Given the description of an element on the screen output the (x, y) to click on. 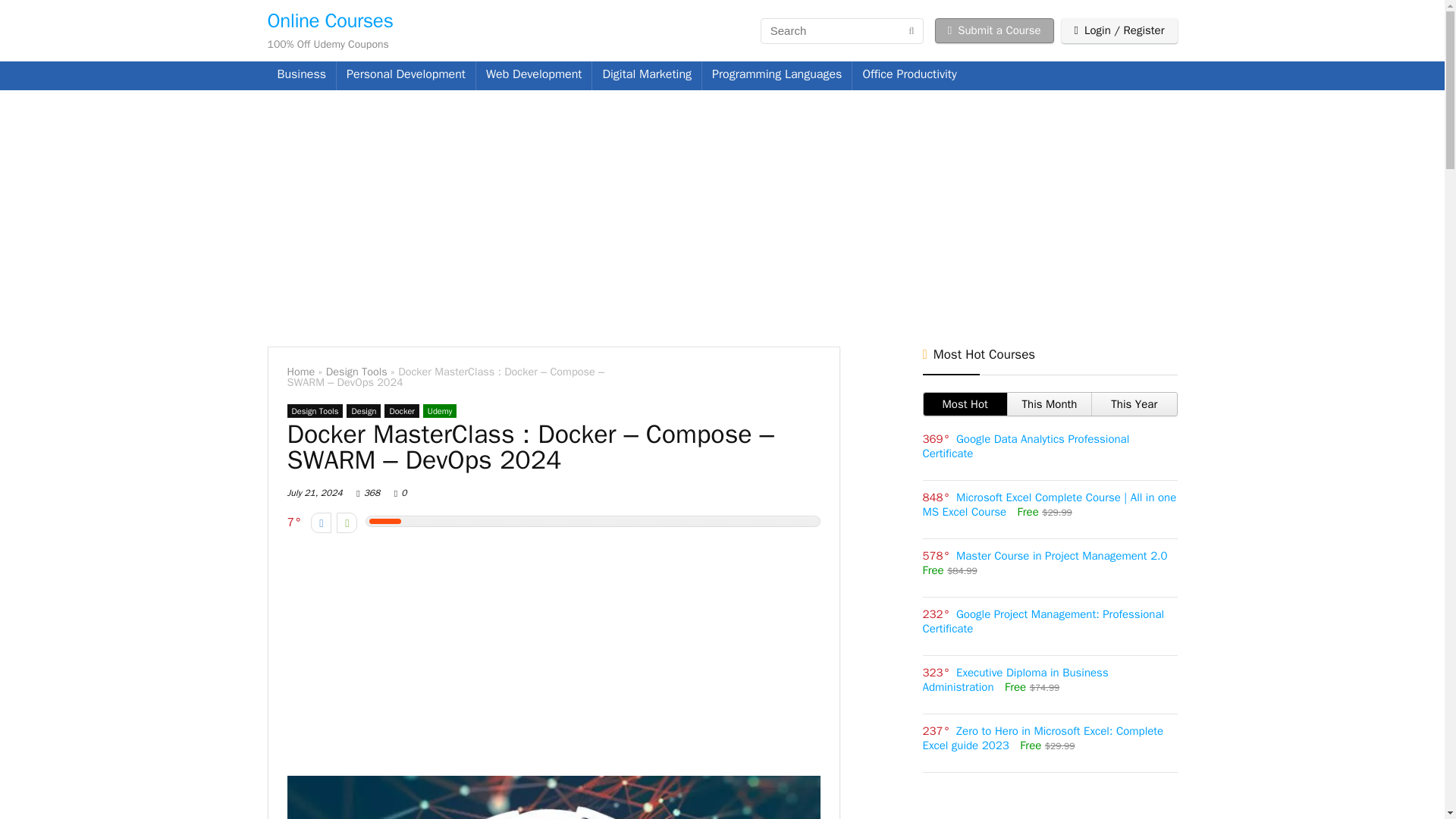
Design Tools (356, 371)
Google Data Analytics Professional Certificate (1025, 446)
Office Productivity (908, 75)
Executive Diploma in Business Administration (1014, 679)
View all posts in Udemy (440, 410)
Personal Development (406, 75)
Submit a Course (994, 30)
Programming Languages (776, 75)
View all posts in Docker (401, 410)
Docker (401, 410)
Design (363, 410)
Udemy (440, 410)
Business (301, 75)
Web Development (534, 75)
